Given the description of an element on the screen output the (x, y) to click on. 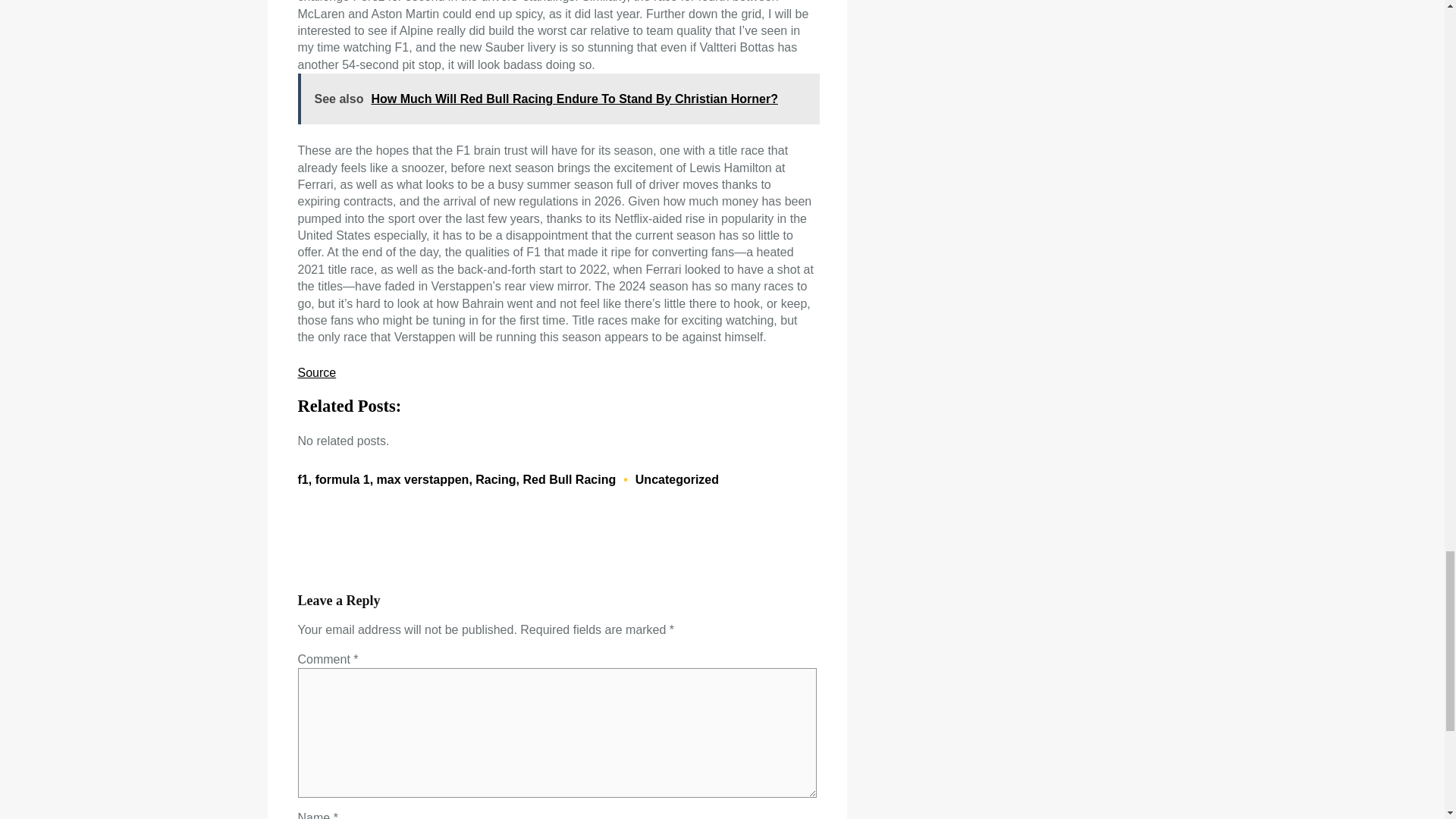
Red Bull Racing (568, 479)
Racing (495, 479)
Source (316, 372)
max verstappen (422, 479)
formula 1 (342, 479)
Uncategorized (676, 479)
